Given the description of an element on the screen output the (x, y) to click on. 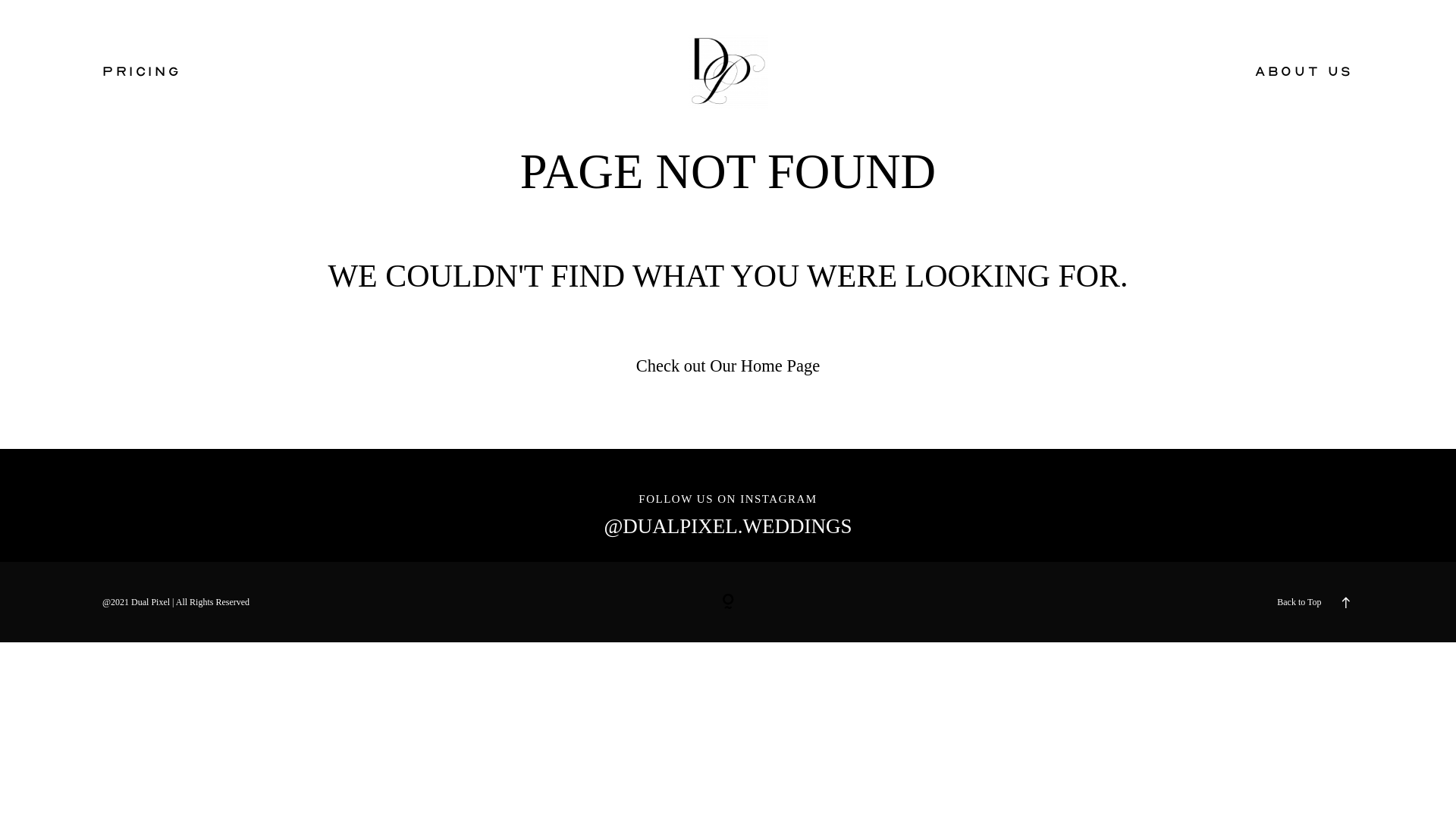
PRICING Element type: text (141, 70)
@DUALPIXEL.WEDDINGS Element type: text (727, 525)
ABOUT US Element type: text (1304, 70)
Sorry, your browser does not support inline SVG. Element type: text (727, 601)
Check out Our Home Page Element type: text (727, 365)
